Given the description of an element on the screen output the (x, y) to click on. 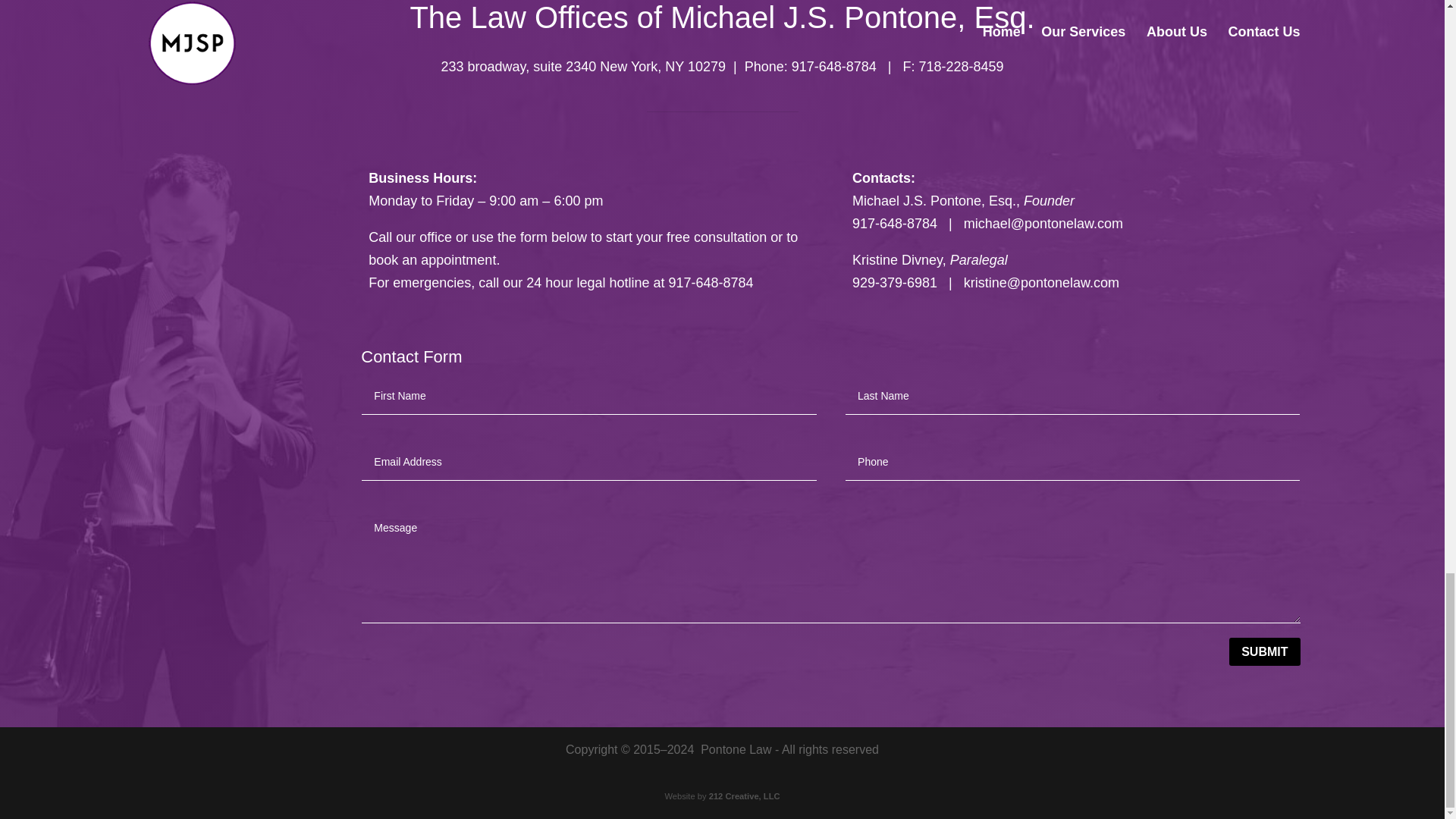
212 Creative, LLC (744, 795)
SUBMIT (1264, 651)
